Given the description of an element on the screen output the (x, y) to click on. 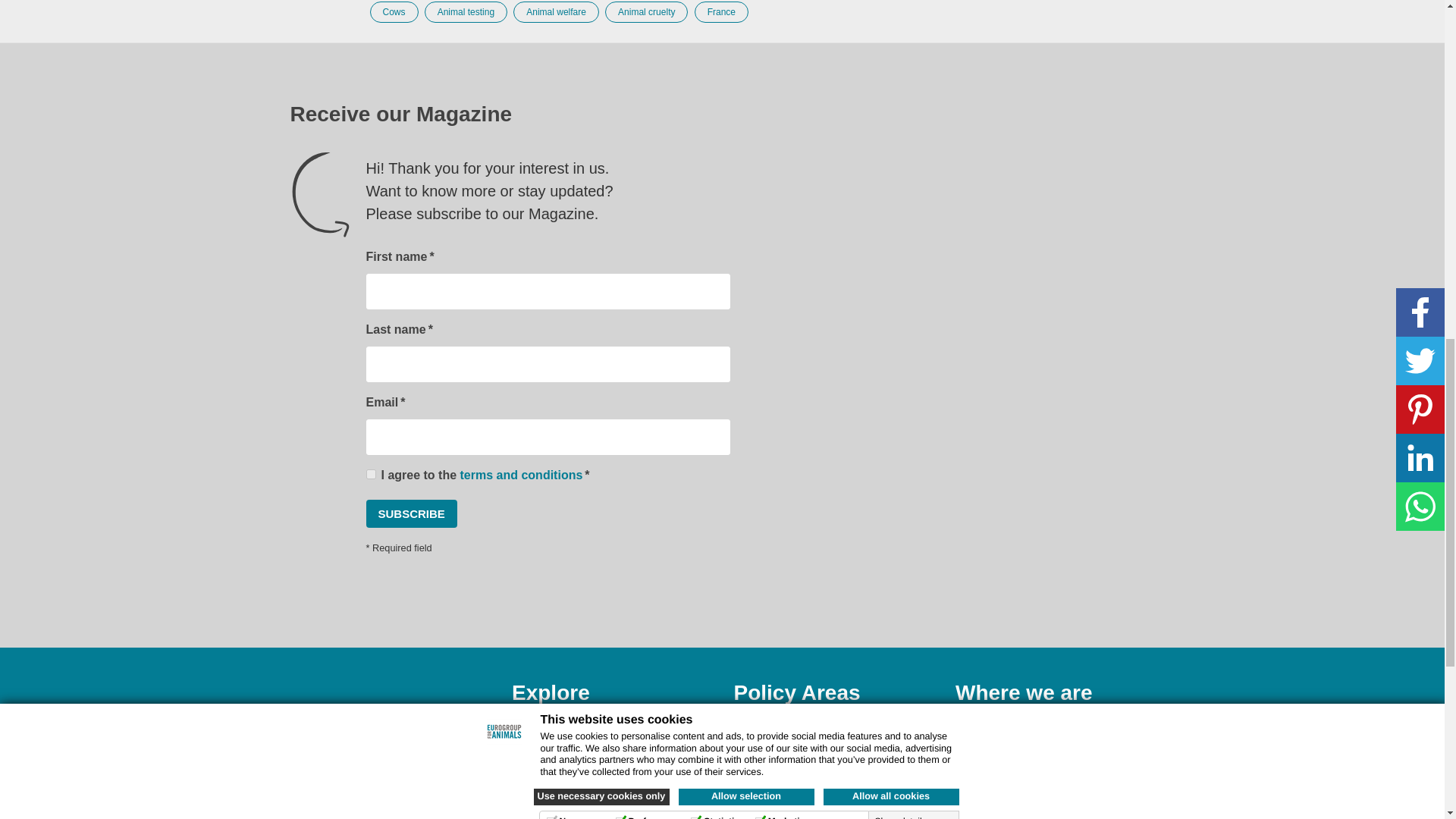
Show details (908, 4)
1 (370, 474)
